Given the description of an element on the screen output the (x, y) to click on. 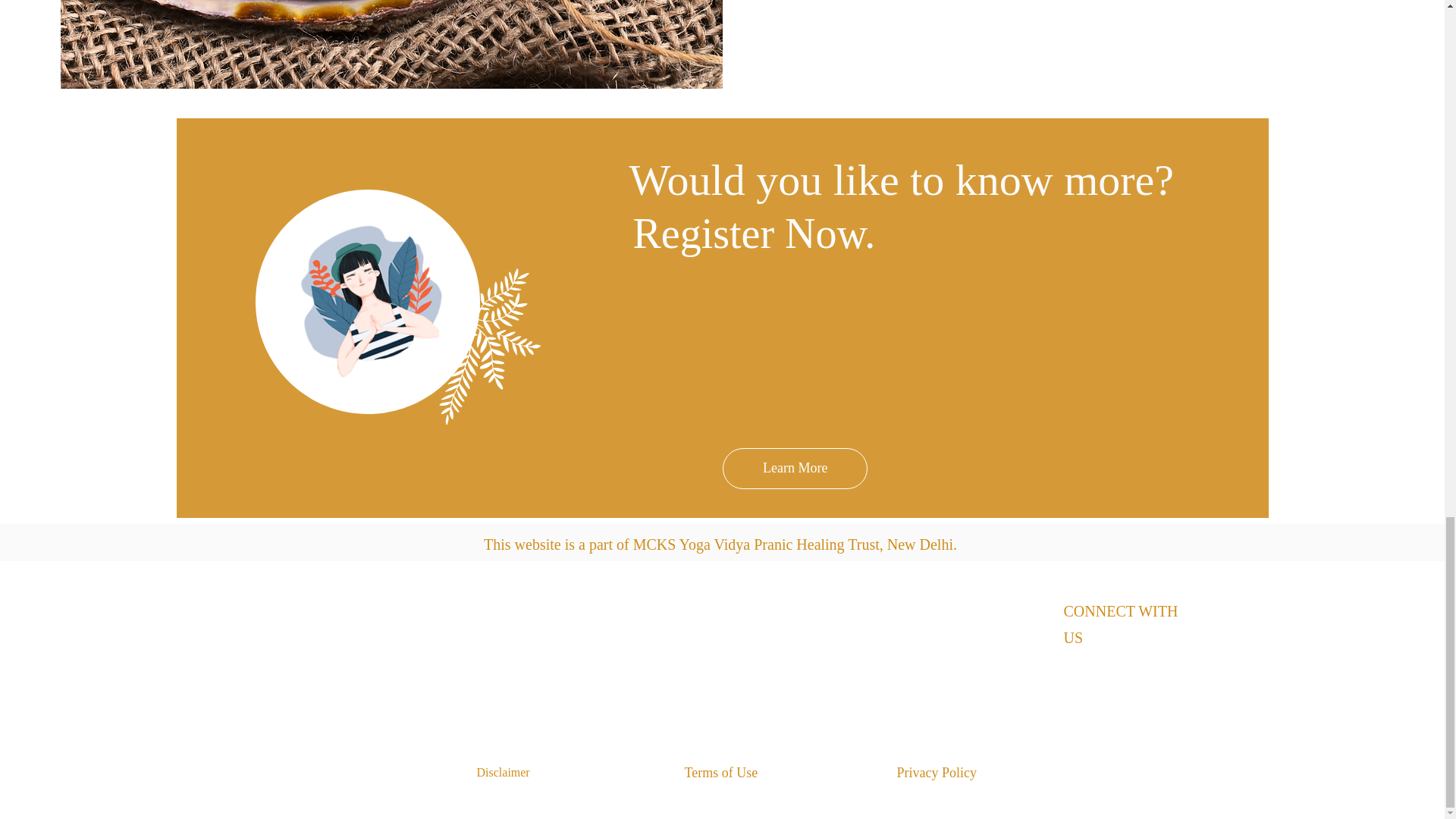
Learn More (794, 467)
Privacy Policy (943, 773)
Terms of Use (728, 773)
Disclaimer (508, 773)
